Given the description of an element on the screen output the (x, y) to click on. 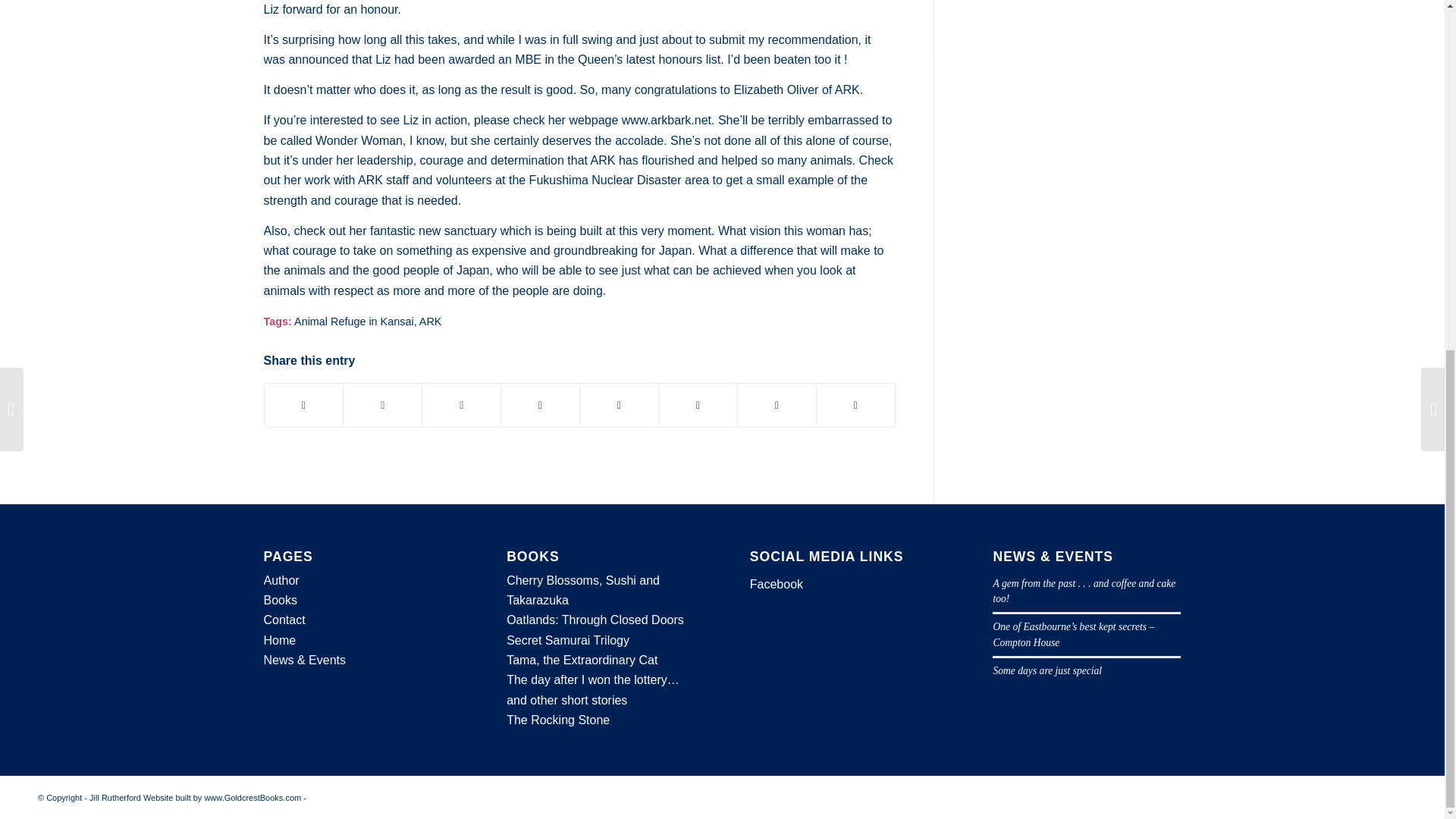
ARK (430, 321)
Animal Refuge in Kansai (353, 321)
Author (281, 580)
